Given the description of an element on the screen output the (x, y) to click on. 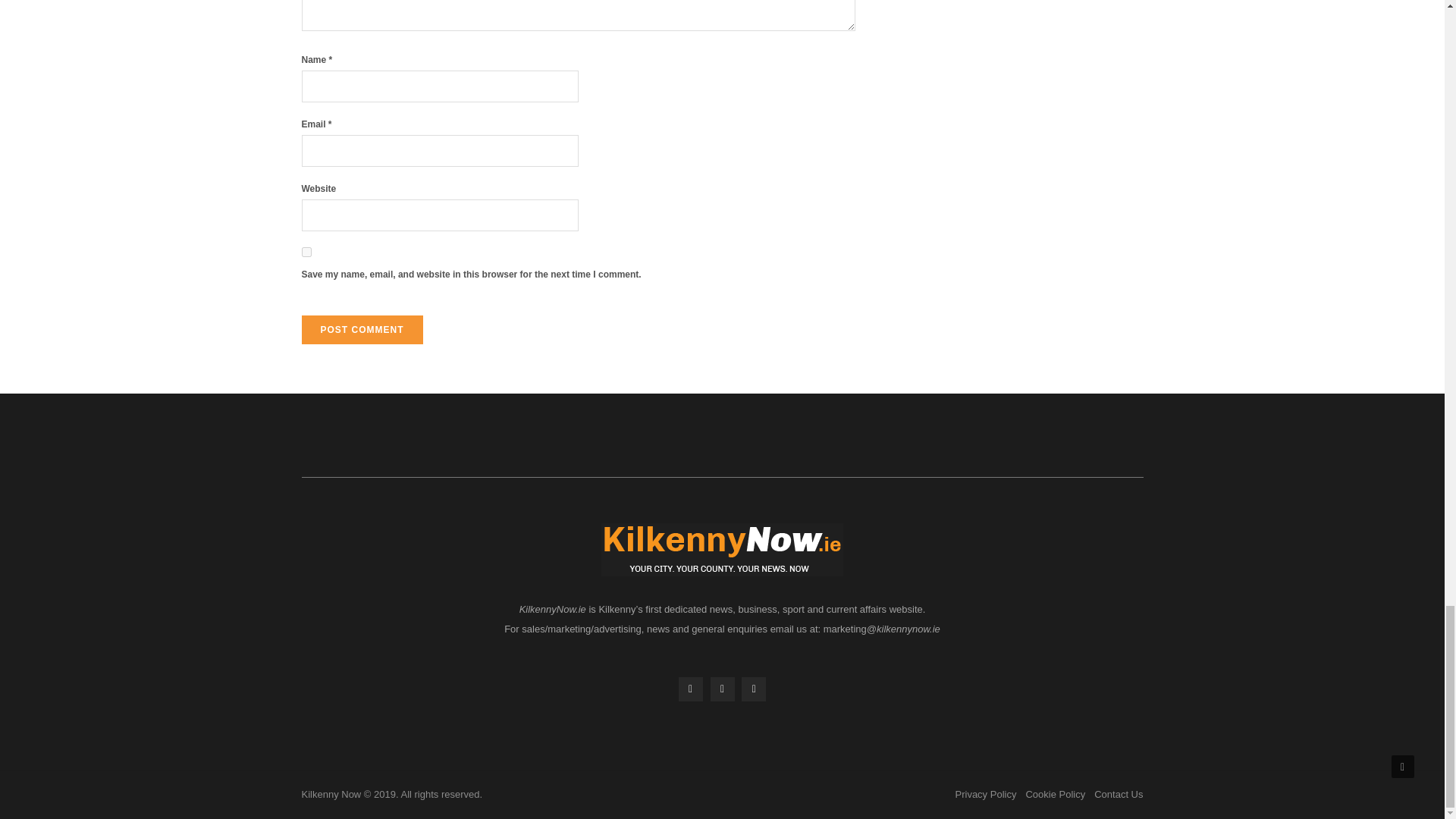
Post Comment (362, 329)
yes (306, 252)
